Given the description of an element on the screen output the (x, y) to click on. 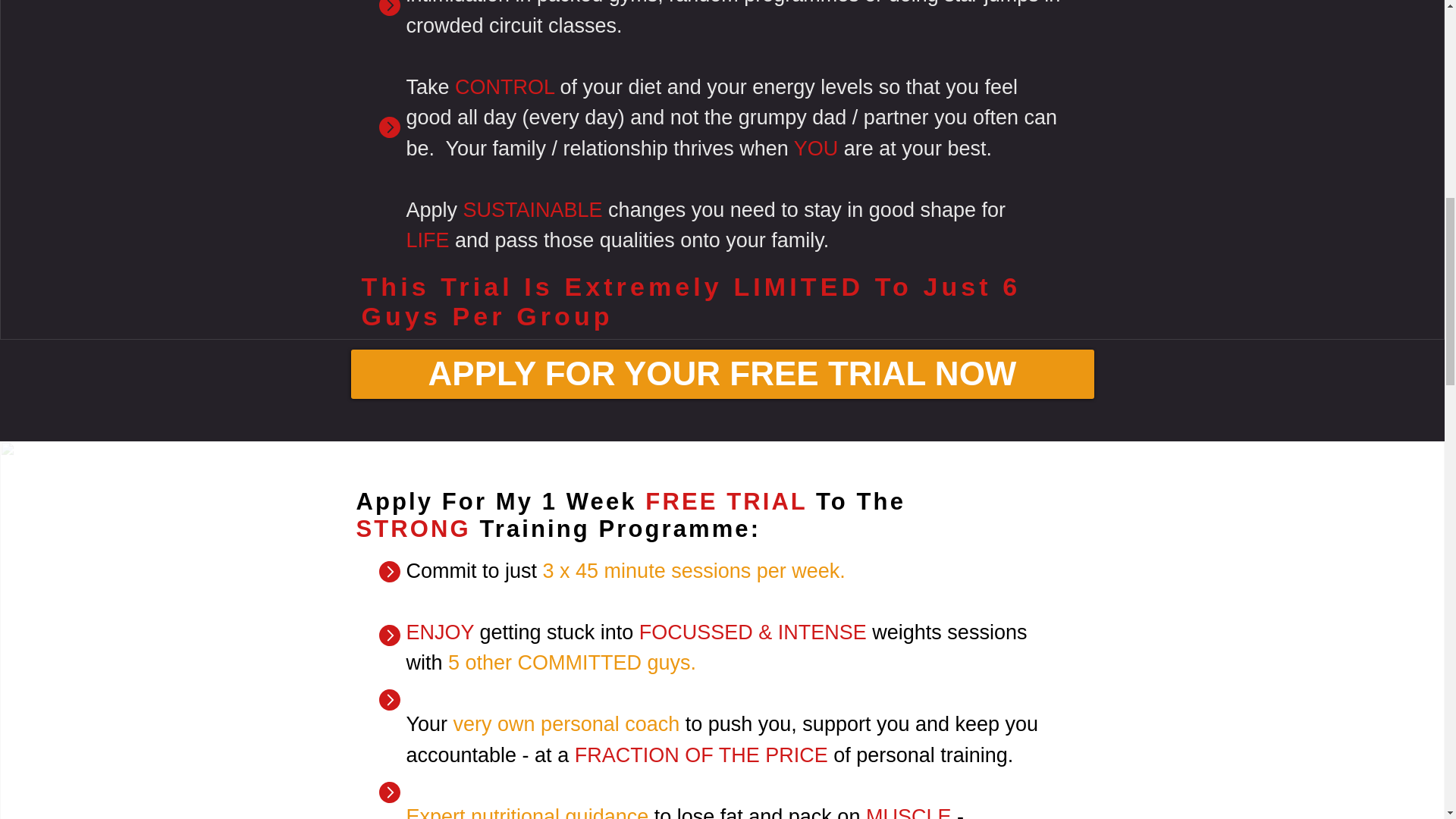
APPLY FOR YOUR FREE TRIAL NOW (721, 373)
